Given the description of an element on the screen output the (x, y) to click on. 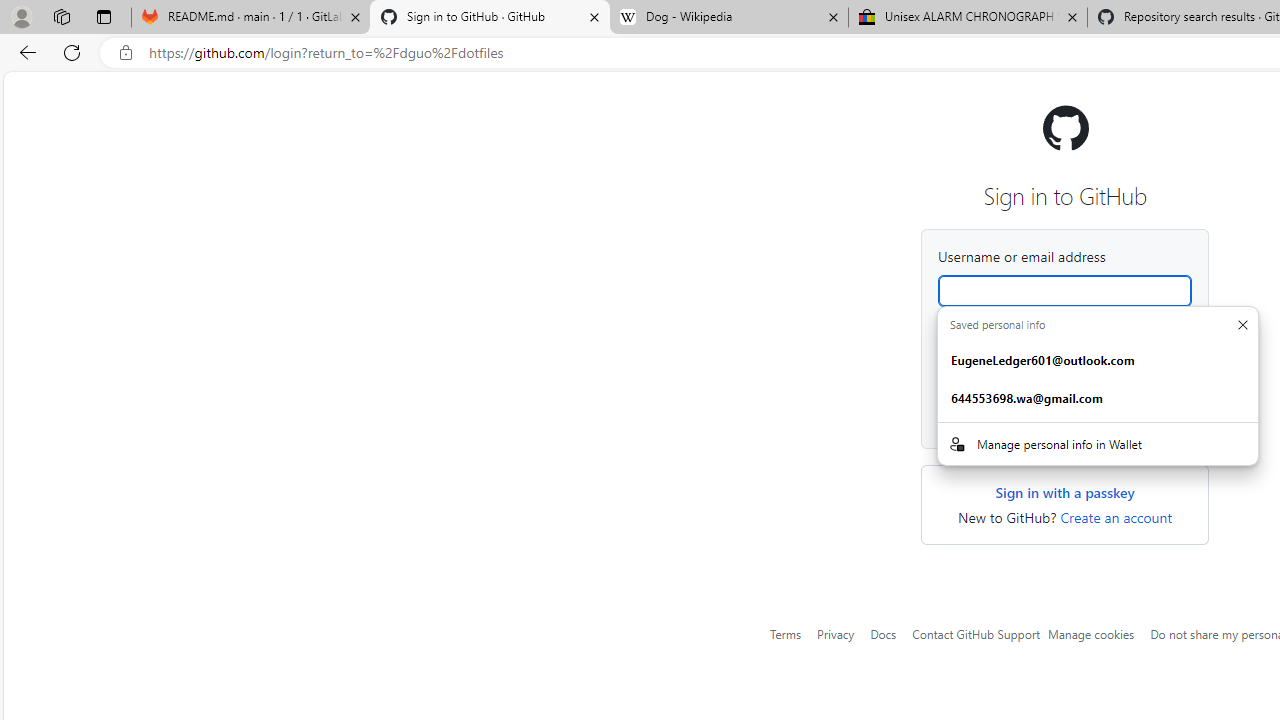
Manage cookies (1091, 633)
Manage personal info in Wallet (1098, 443)
Sign in with a passkey (1064, 493)
644553698.wa@gmail.com. :Basic info suggestion. (1098, 399)
Docs (883, 633)
Docs (883, 633)
Privacy (835, 633)
Create an account (1115, 517)
Homepage (1064, 127)
Privacy (835, 633)
Personal Profile (21, 16)
Manage cookies (1091, 633)
Sign in (1064, 416)
